Given the description of an element on the screen output the (x, y) to click on. 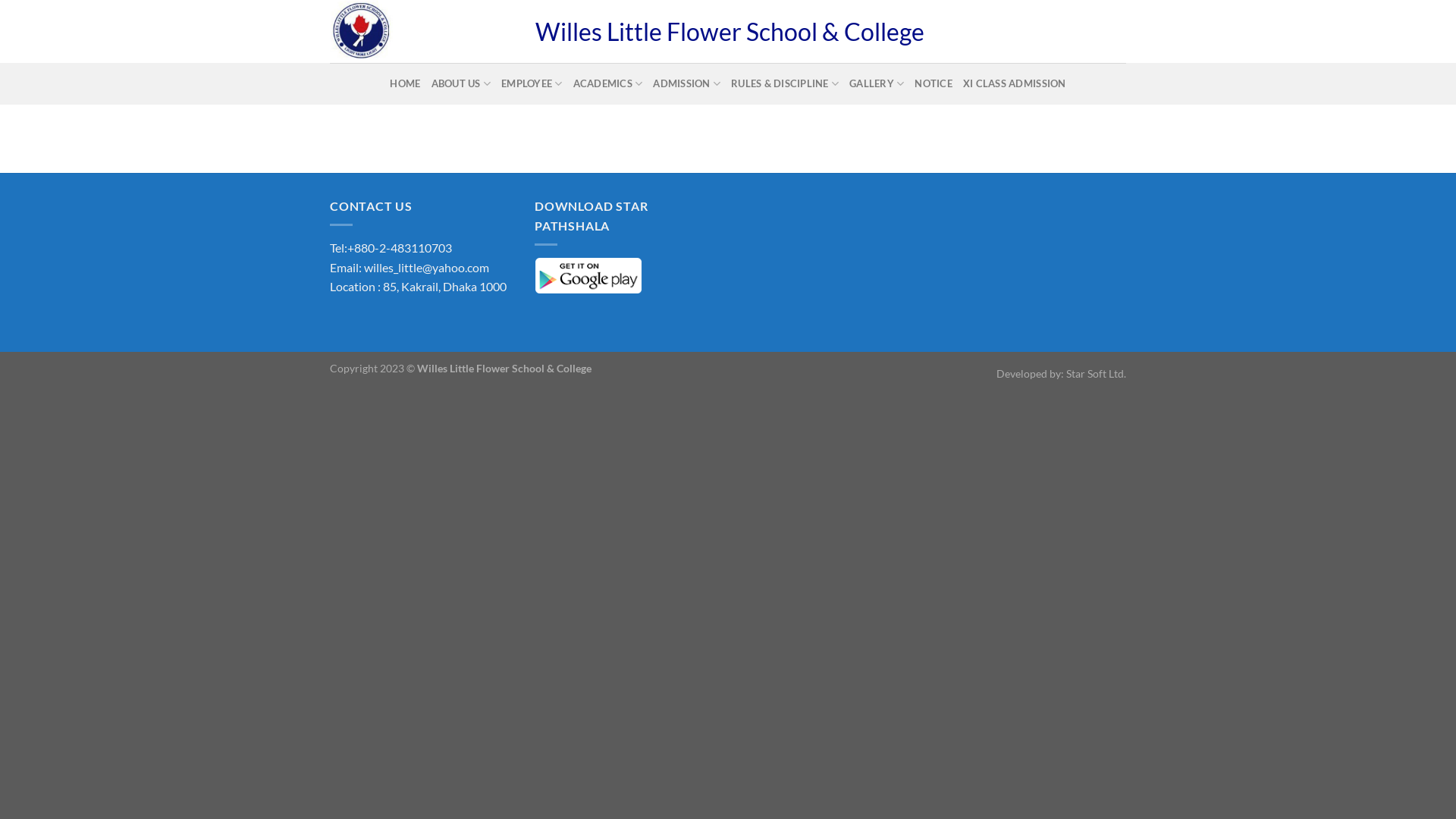
ACADEMICS Element type: text (608, 83)
Star Soft Ltd. Element type: text (1096, 373)
EMPLOYEE Element type: text (531, 83)
Willes Little Flower School and College - wlfsc.edu.bd Element type: hover (420, 31)
NOTICE Element type: text (933, 83)
ABOUT US Element type: text (460, 83)
HOME Element type: text (404, 83)
ADMISSION Element type: text (686, 83)
RULES & DISCIPLINE Element type: text (784, 83)
GALLERY Element type: text (876, 83)
XI CLASS ADMISSION Element type: text (1014, 83)
